Given the description of an element on the screen output the (x, y) to click on. 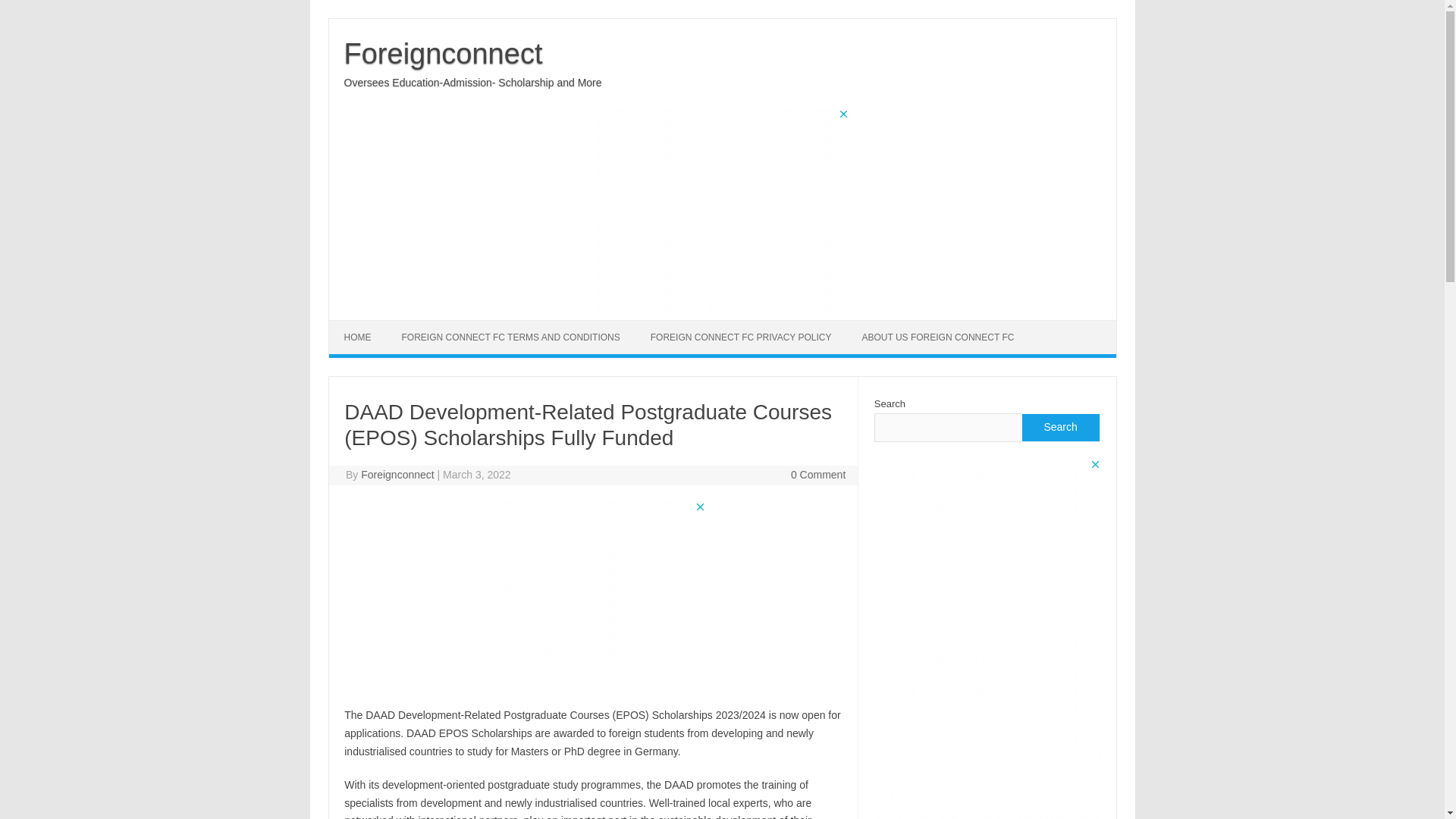
Foreignconnect (443, 53)
FOREIGN CONNECT FC PRIVACY POLICY (740, 337)
Posts by Foreignconnect (397, 474)
Foreignconnect (443, 53)
ABOUT US FOREIGN CONNECT FC (937, 337)
3rd party ad content (721, 213)
HOME (358, 337)
3rd party ad content (592, 595)
FOREIGN CONNECT FC TERMS AND CONDITIONS (510, 337)
Foreignconnect (397, 474)
Oversees Education-Admission- Scholarship and More (472, 82)
Search (1059, 427)
0 Comment (817, 474)
